Given the description of an element on the screen output the (x, y) to click on. 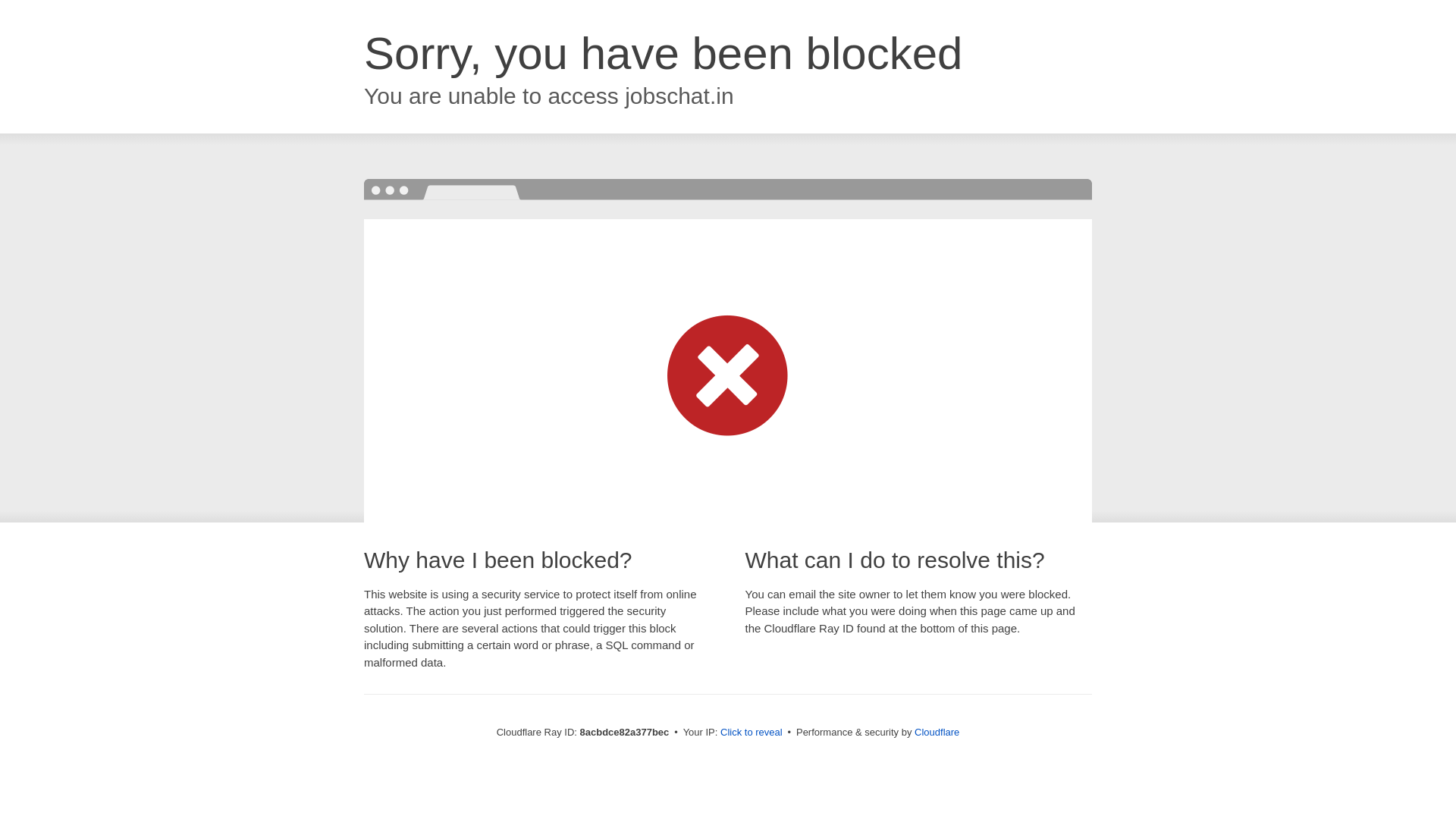
Cloudflare (936, 731)
Click to reveal (751, 732)
